Given the description of an element on the screen output the (x, y) to click on. 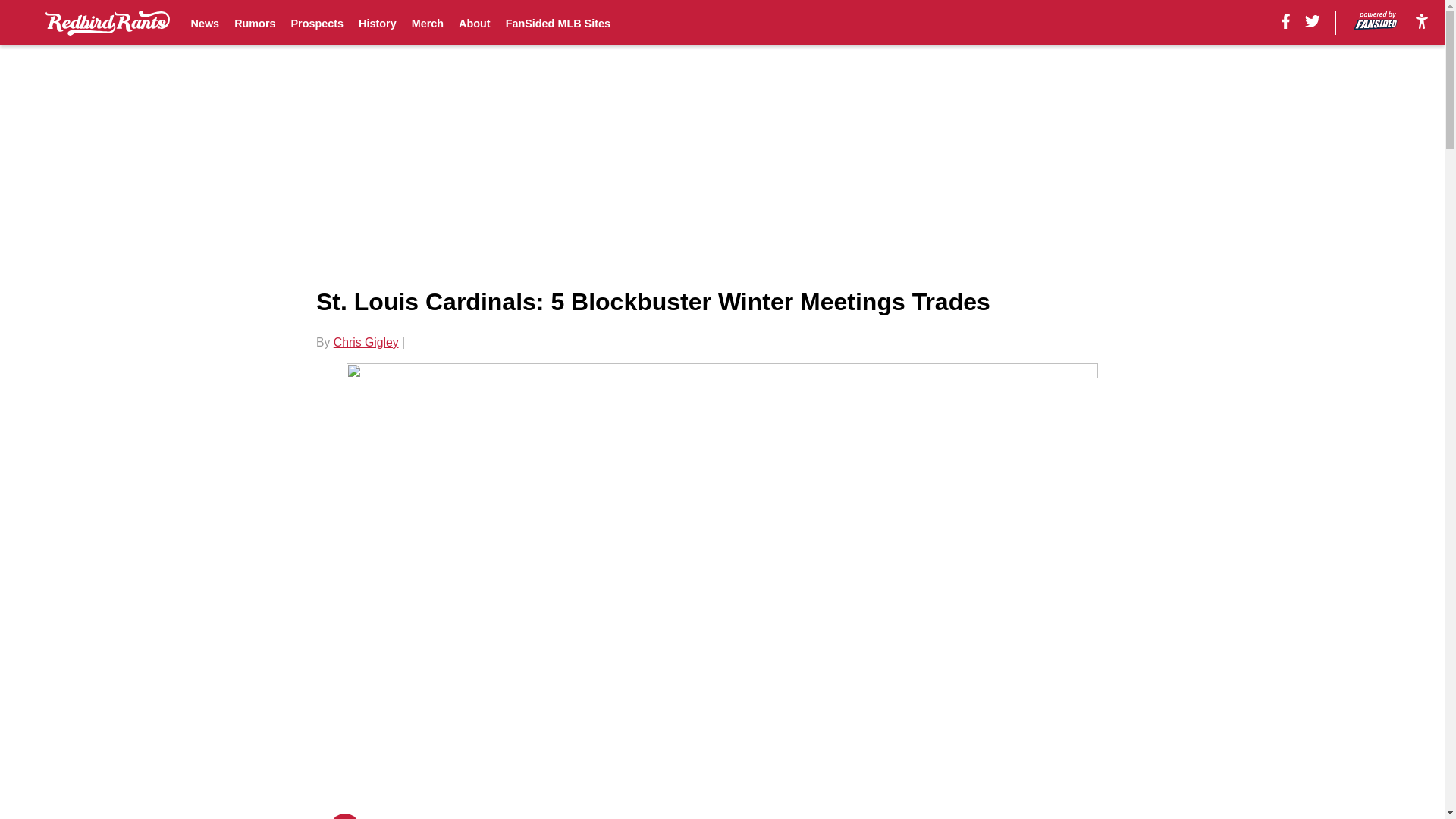
Merch (428, 23)
News (204, 23)
FanSided MLB Sites (557, 23)
Chris Gigley (365, 341)
History (377, 23)
Prospects (317, 23)
Rumors (254, 23)
About (474, 23)
